Given the description of an element on the screen output the (x, y) to click on. 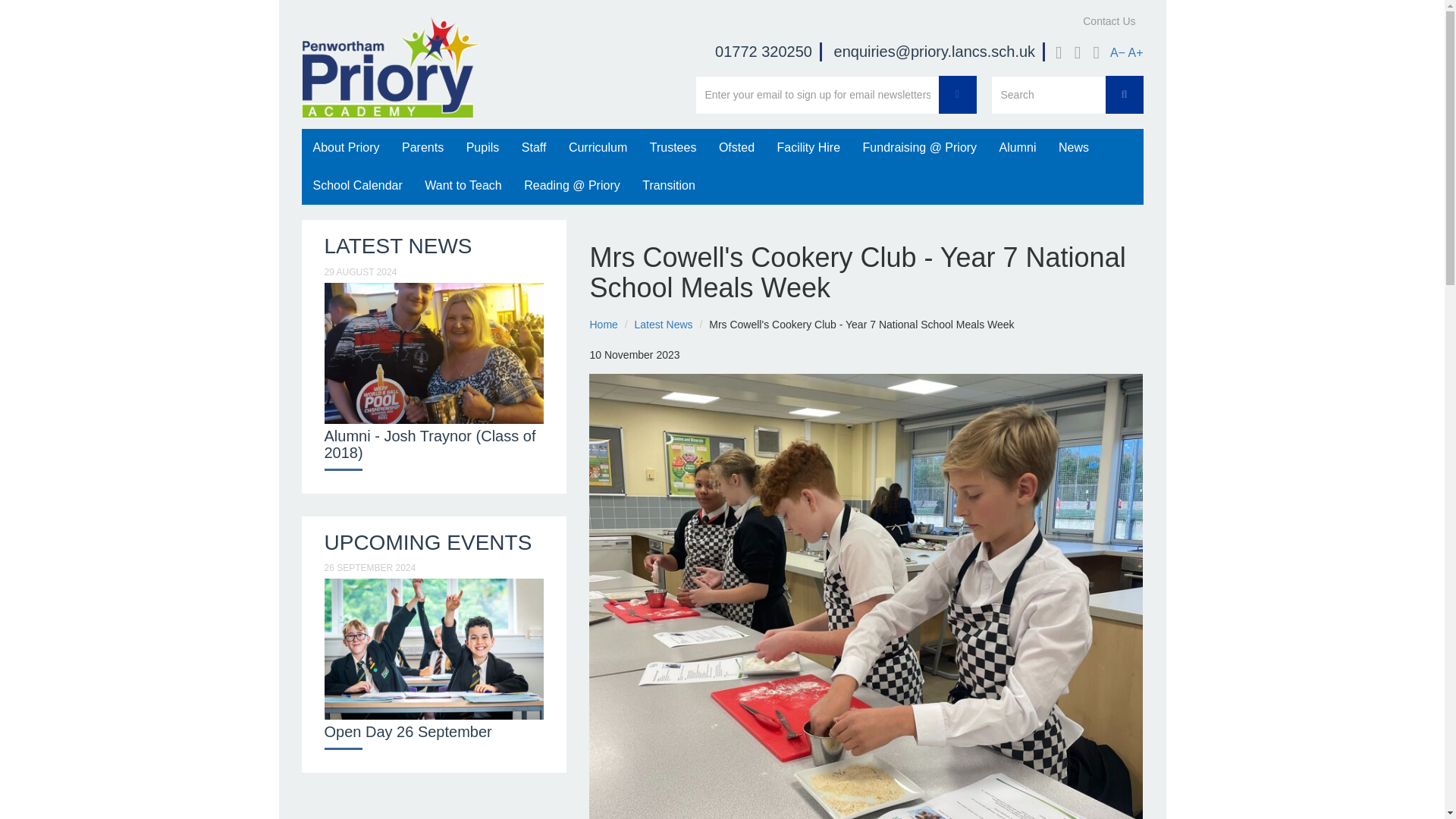
Curriculum (598, 147)
Trustees (673, 147)
Pupils (482, 147)
Contact Us (1108, 21)
News (1073, 147)
LATEST NEWS (397, 245)
Ofsted (736, 147)
Latest News (663, 324)
Home (603, 324)
Parents (422, 147)
